Given the description of an element on the screen output the (x, y) to click on. 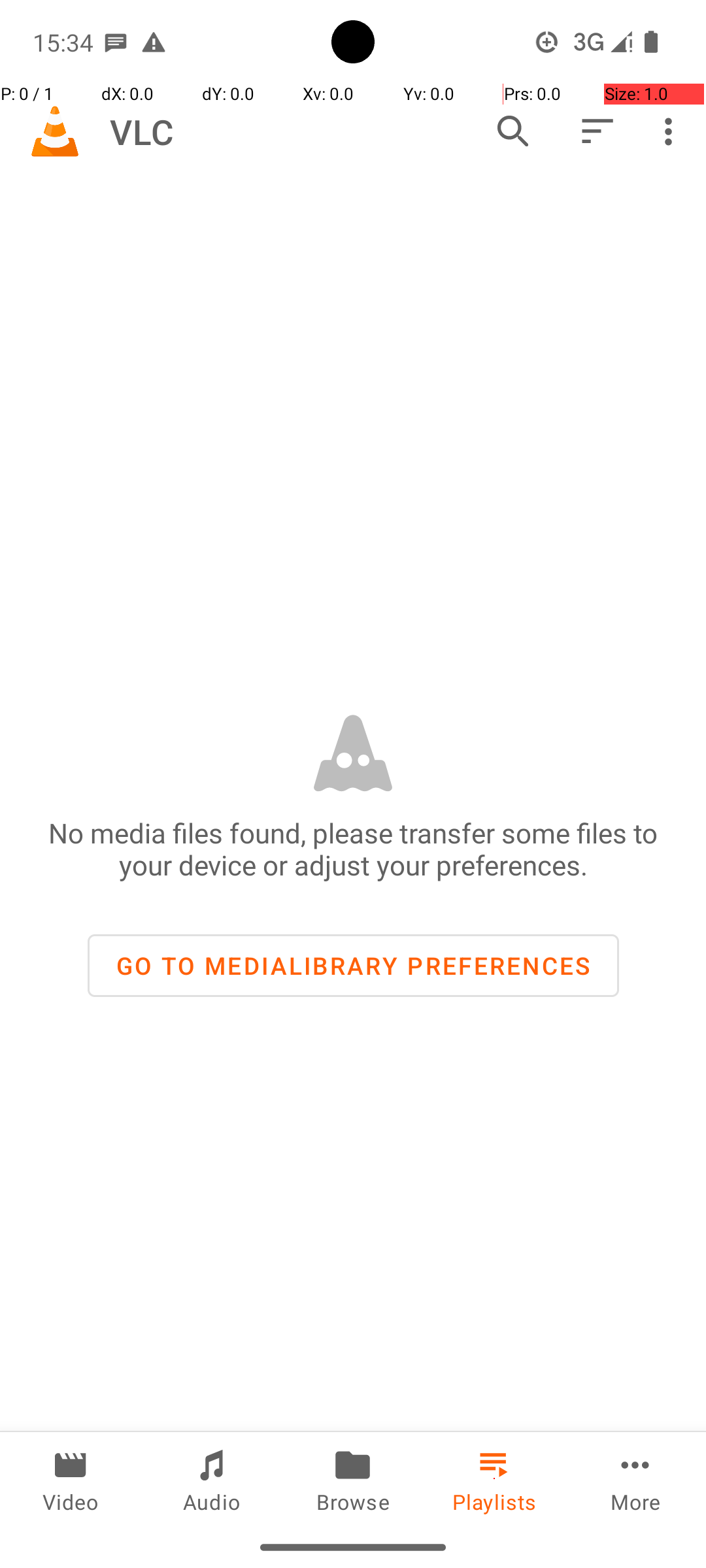
Sort by… Element type: android.widget.TextView (595, 131)
No media files found, please transfer some files to your device or adjust your preferences. Element type: android.widget.TextView (352, 848)
GO TO MEDIALIBRARY PREFERENCES Element type: android.widget.Button (353, 965)
Video Element type: android.widget.FrameLayout (70, 1478)
Browse Element type: android.widget.FrameLayout (352, 1478)
Playlists Element type: android.widget.FrameLayout (493, 1478)
